Given the description of an element on the screen output the (x, y) to click on. 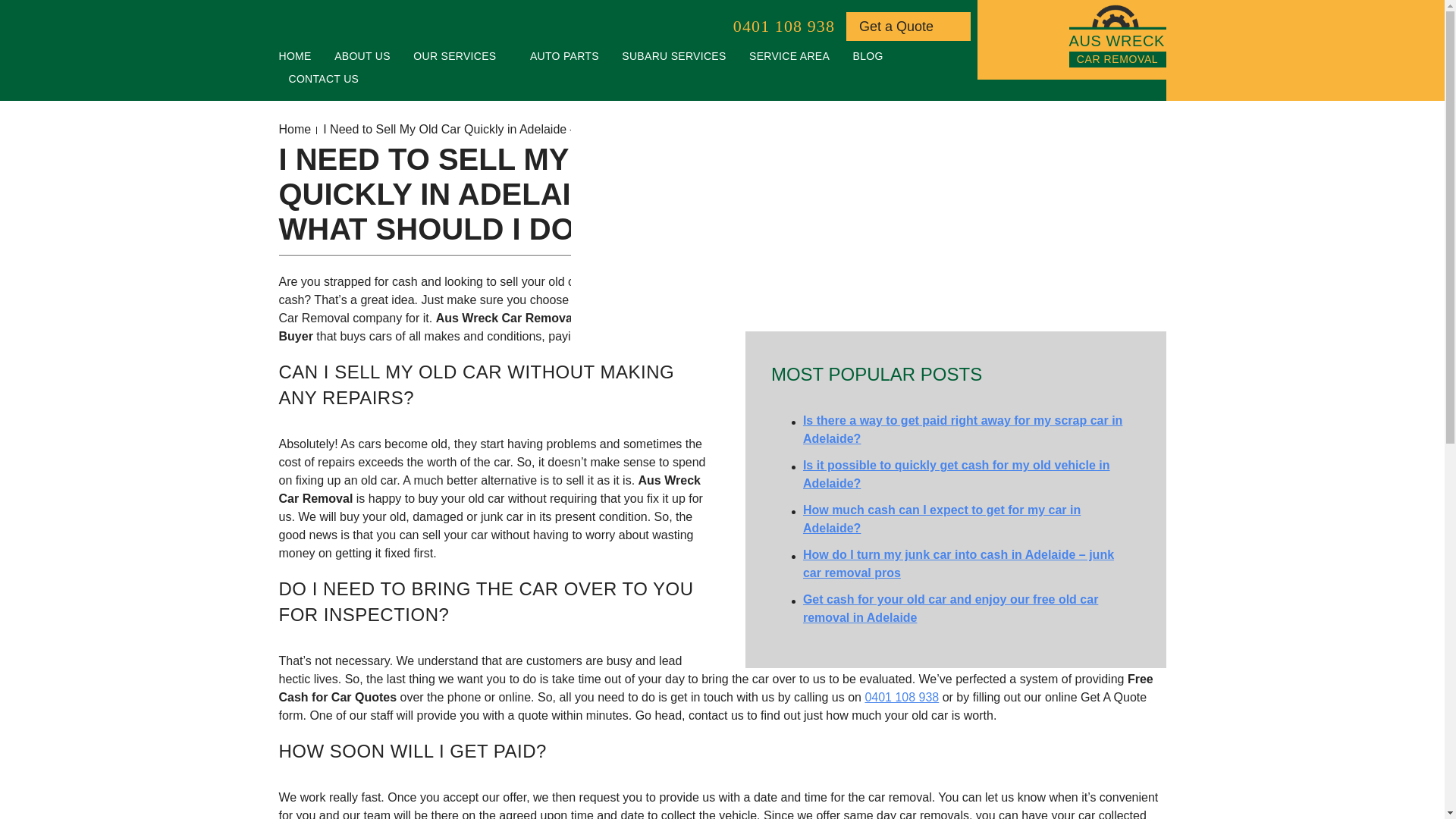
ABOUT US (362, 56)
AUS Wreck Car Removal (1117, 16)
SUBARU SERVICES (673, 56)
Blog (1117, 35)
Service Area (868, 56)
CONTACT US (789, 56)
AUTO PARTS (323, 78)
Subaru Services (563, 56)
SERVICE AREA (673, 56)
Get a Quote (789, 56)
About Us (908, 26)
AUS Wreck Car Removal  (362, 56)
